Given the description of an element on the screen output the (x, y) to click on. 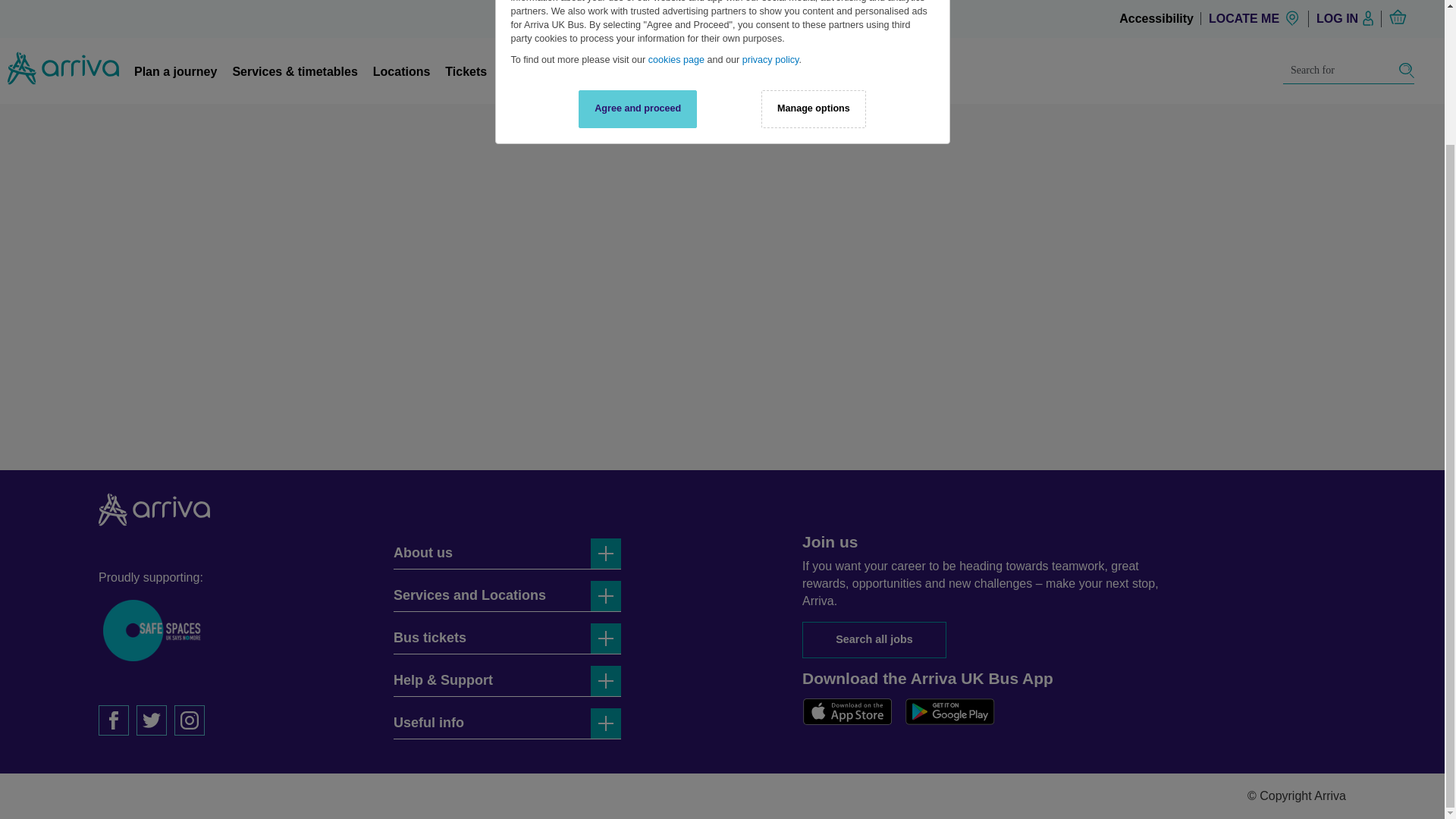
Expand (606, 638)
Expand (606, 595)
Expand (606, 553)
Expand (606, 723)
Expand (606, 680)
